Given the description of an element on the screen output the (x, y) to click on. 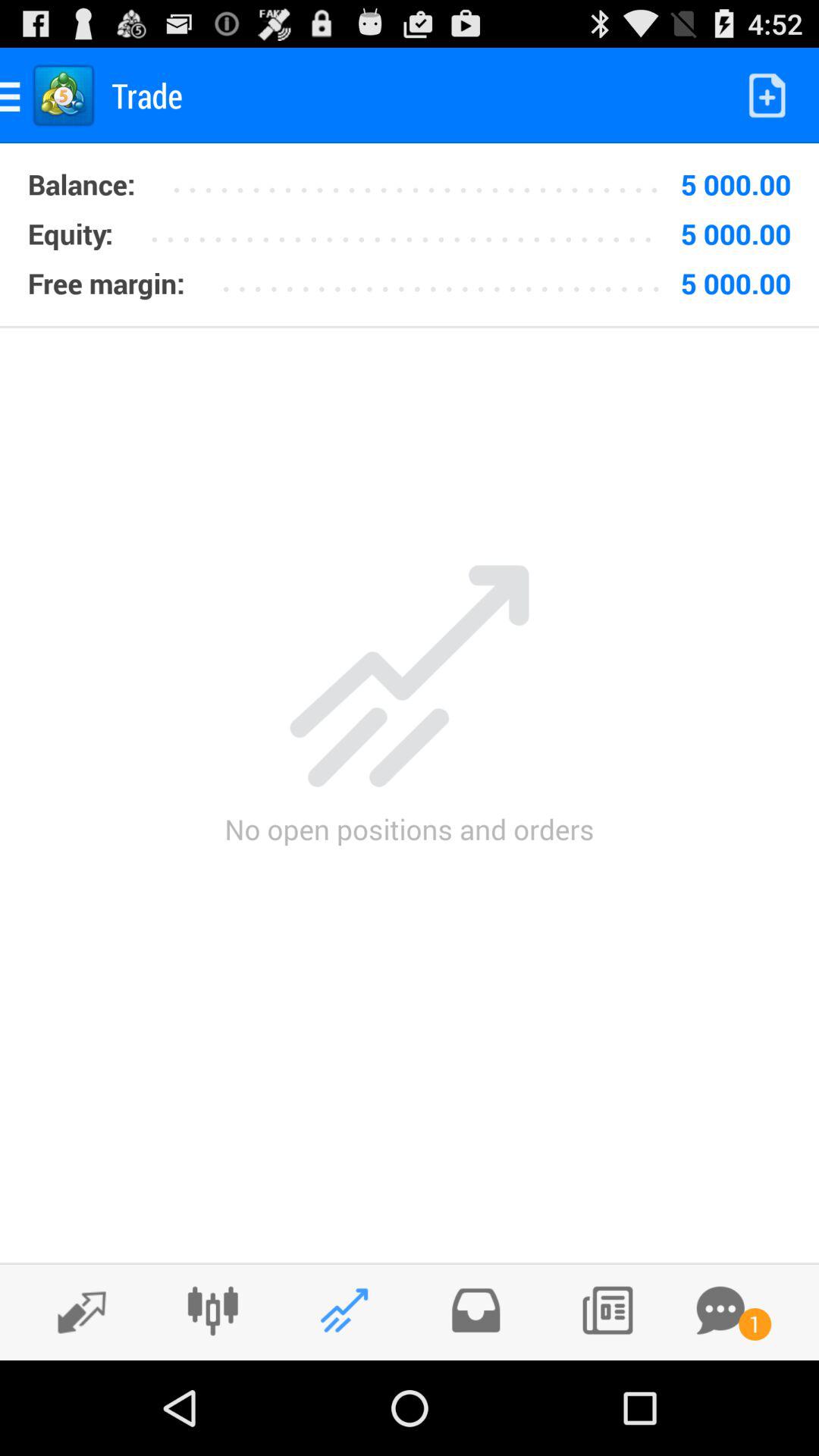
launch the item next to the 5 000.00 item (421, 178)
